Given the description of an element on the screen output the (x, y) to click on. 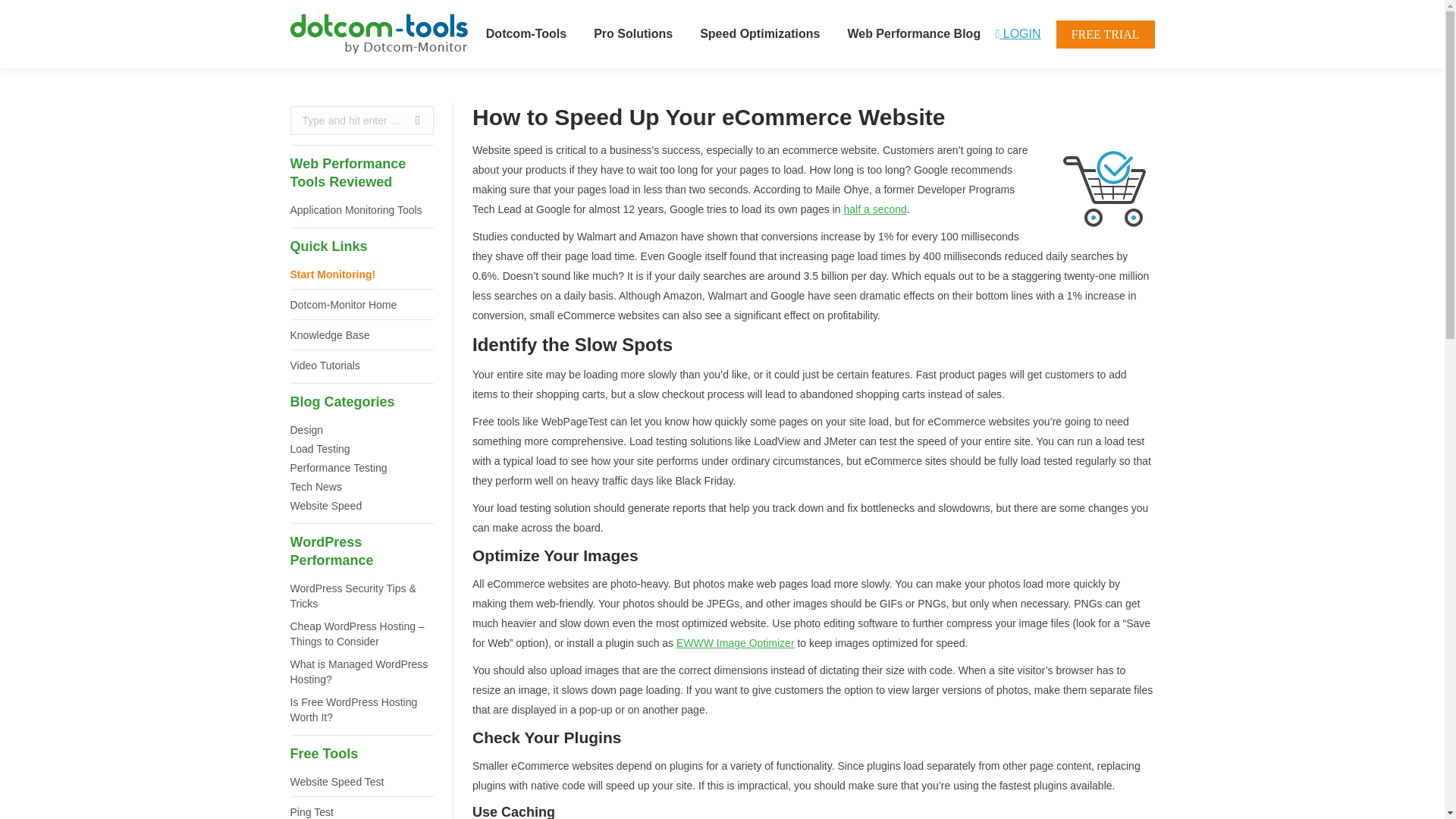
Dotcom-Tools (526, 33)
Go! (409, 120)
Go! (409, 120)
Pro Solutions (633, 33)
LOGIN (1017, 33)
Speed Optimizations (759, 33)
Web Performance Blog (914, 33)
ecommerce website speed (1105, 188)
FREE TRIAL (1105, 33)
